Given the description of an element on the screen output the (x, y) to click on. 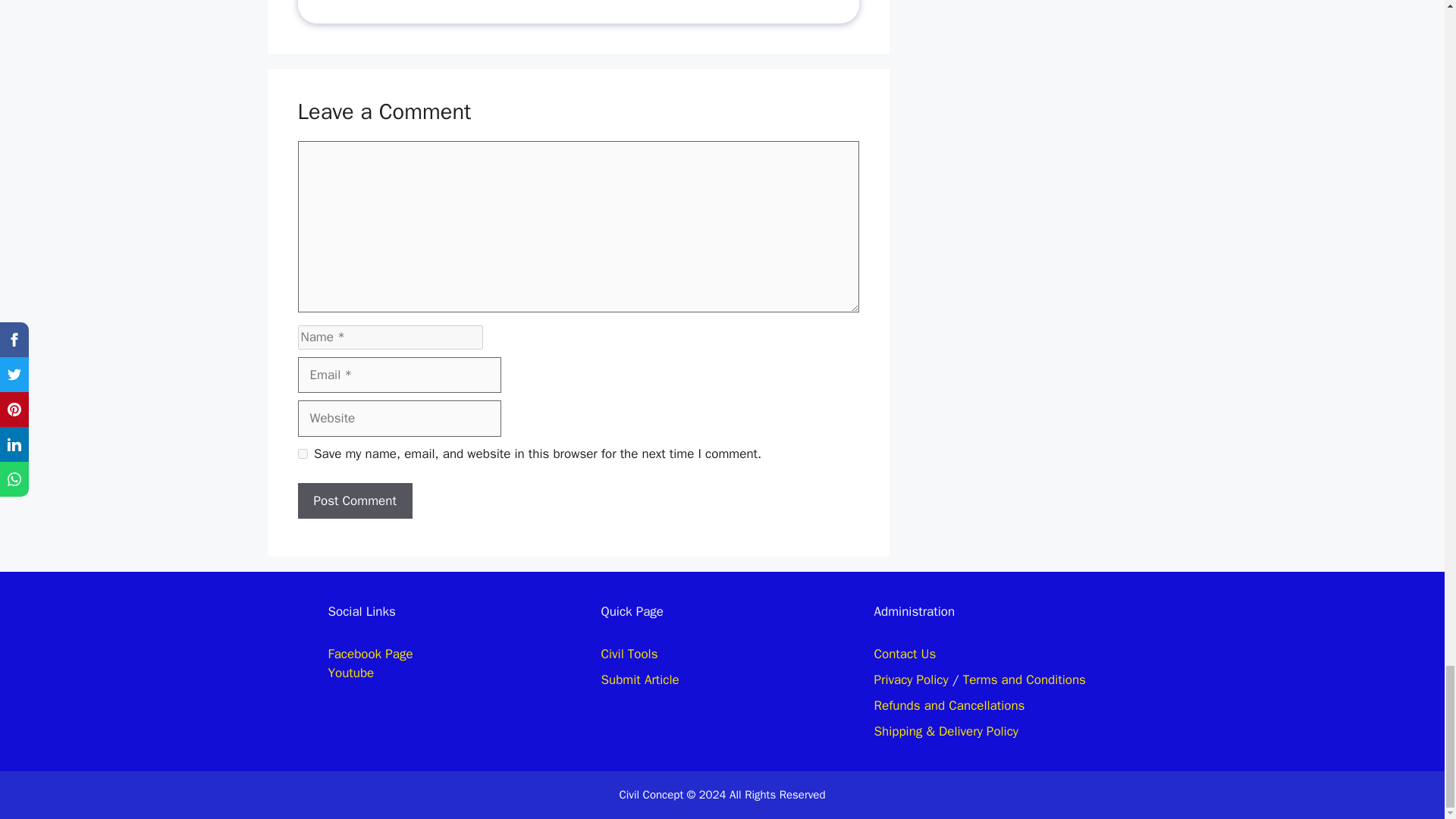
yes (302, 453)
Post Comment (354, 501)
Read more about this author (410, 4)
.... (410, 4)
Post Comment (354, 501)
